Given the description of an element on the screen output the (x, y) to click on. 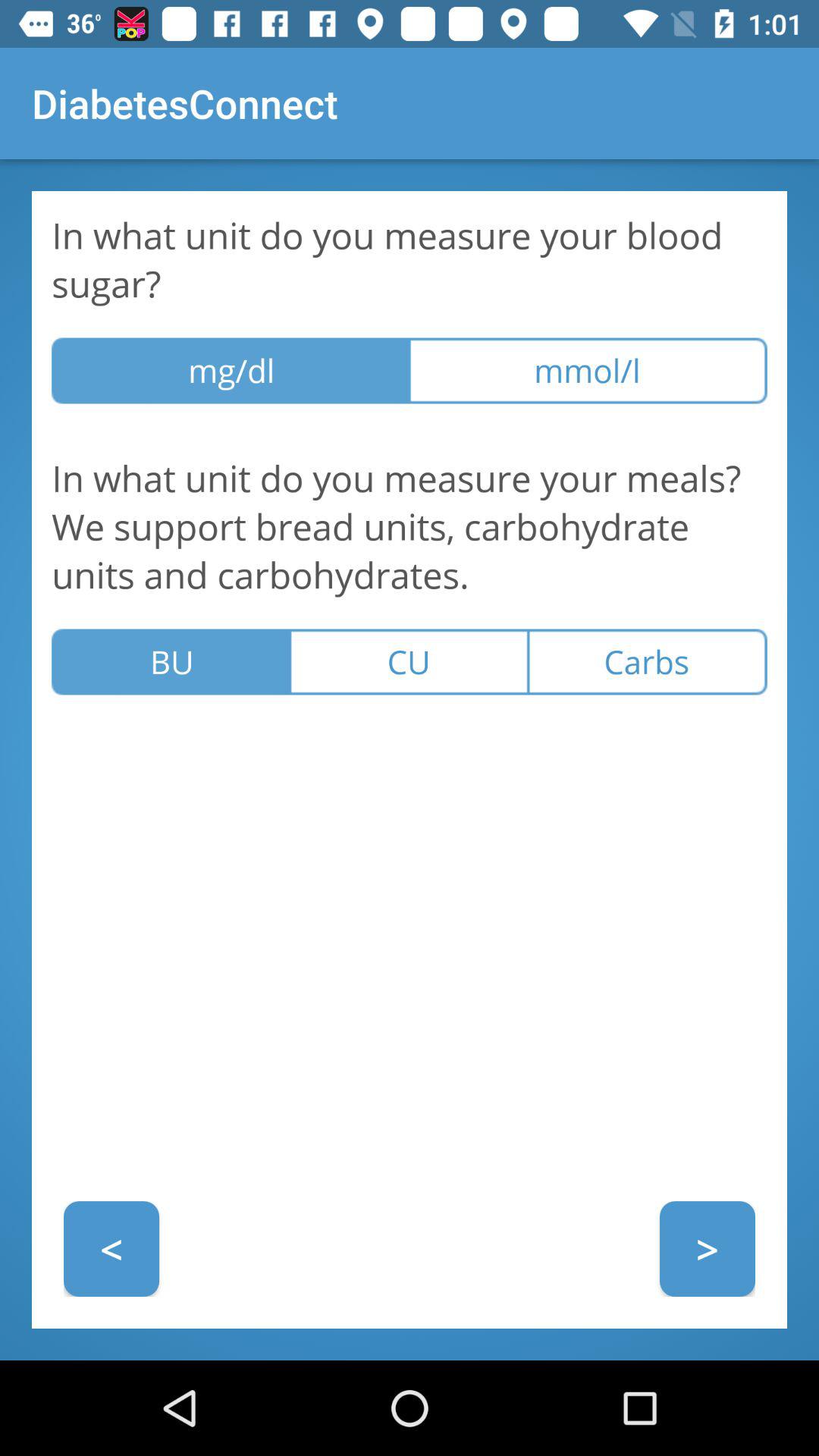
select the item at the bottom left corner (111, 1248)
